Given the description of an element on the screen output the (x, y) to click on. 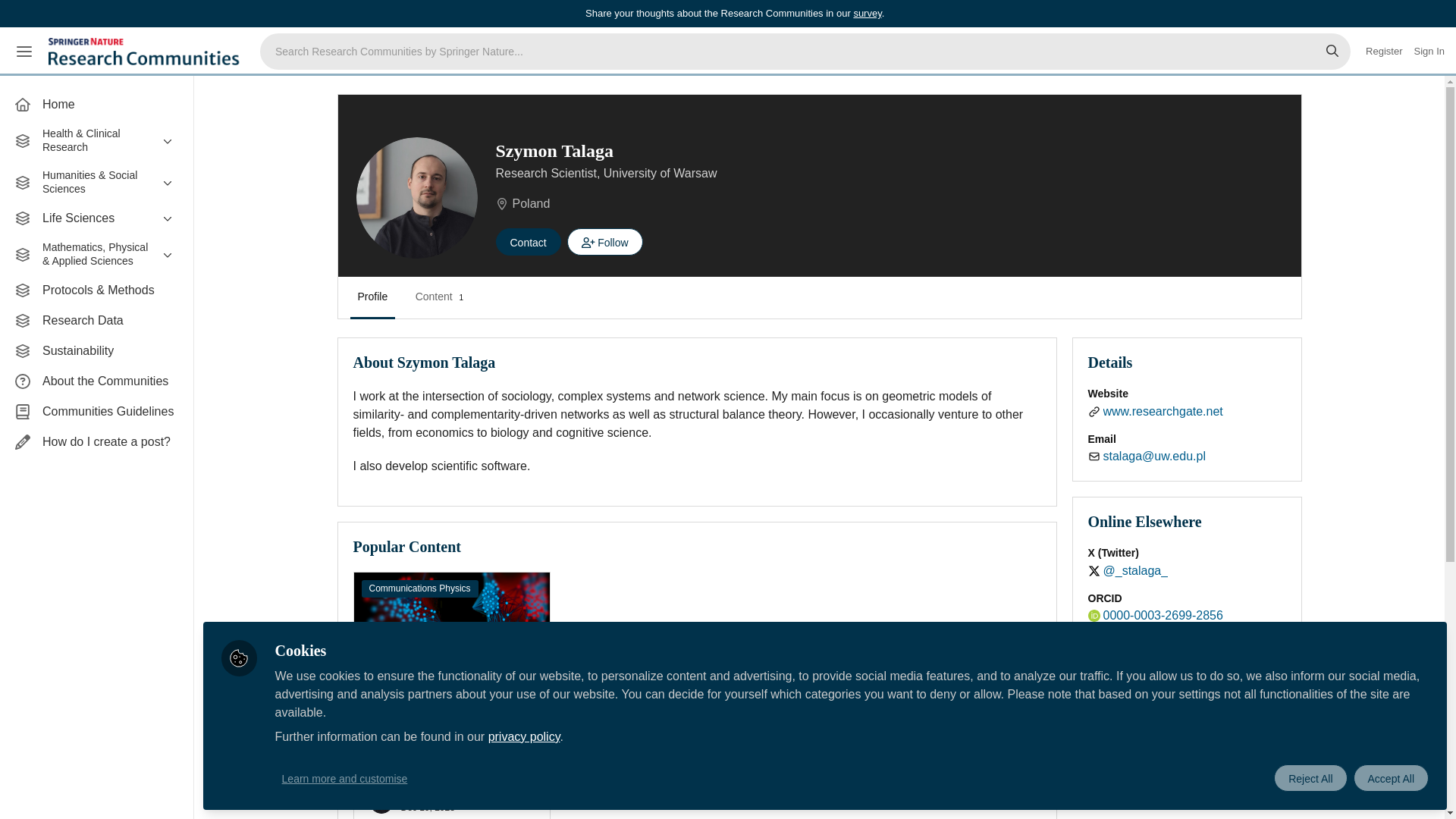
Home (96, 103)
survey (866, 12)
Menu (24, 51)
Search (1332, 51)
Home (96, 103)
Life Sciences (96, 217)
Life Sciences (96, 217)
Research Communities by Springer Nature (146, 51)
